Given the description of an element on the screen output the (x, y) to click on. 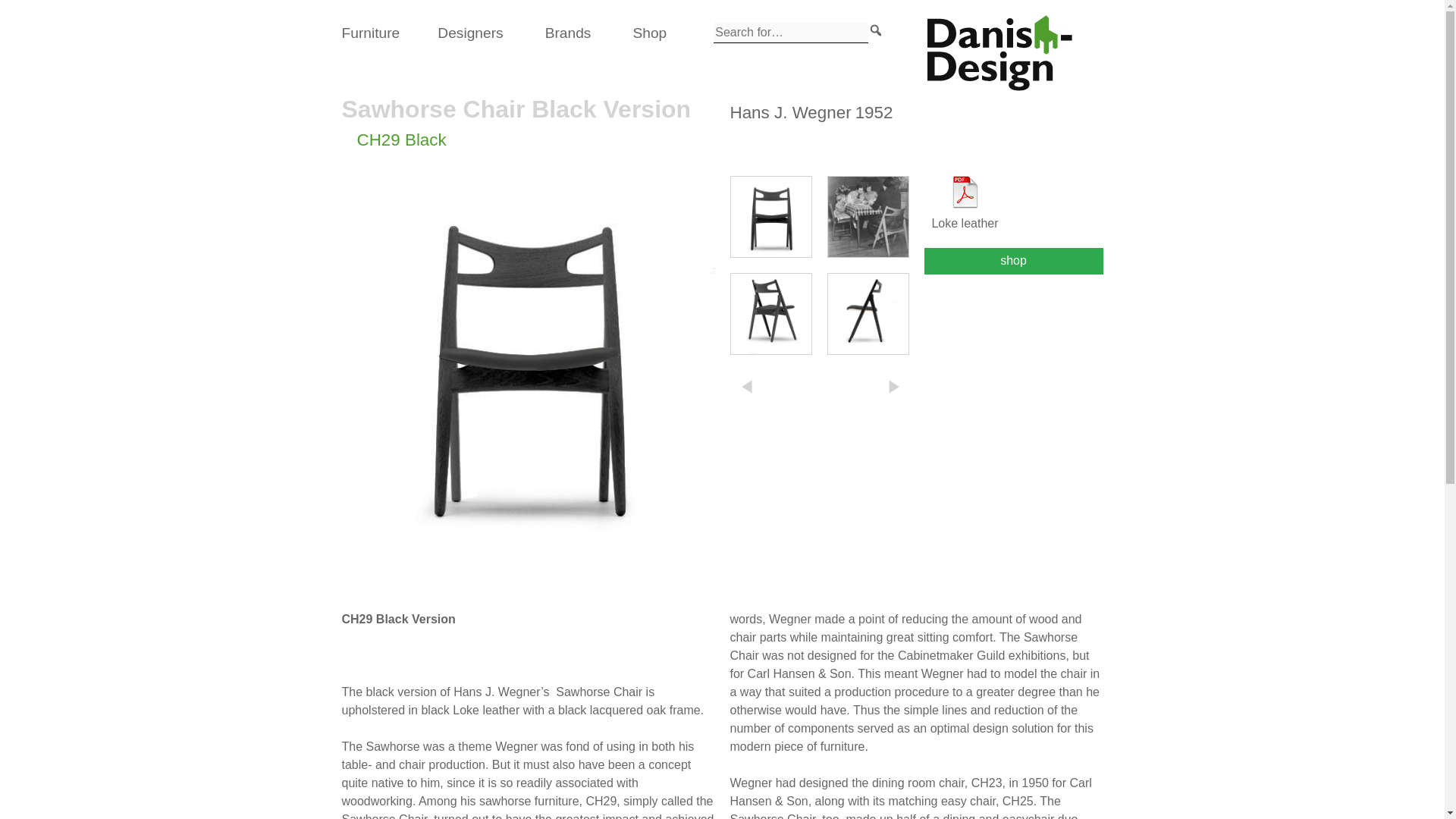
Brands (567, 33)
Furniture (369, 33)
Loke leather (964, 204)
Shop (648, 33)
Designers (470, 33)
Search for: (790, 32)
Hans J. Wegner1952 (810, 112)
Loke leather (964, 204)
shop (1012, 261)
